Given the description of an element on the screen output the (x, y) to click on. 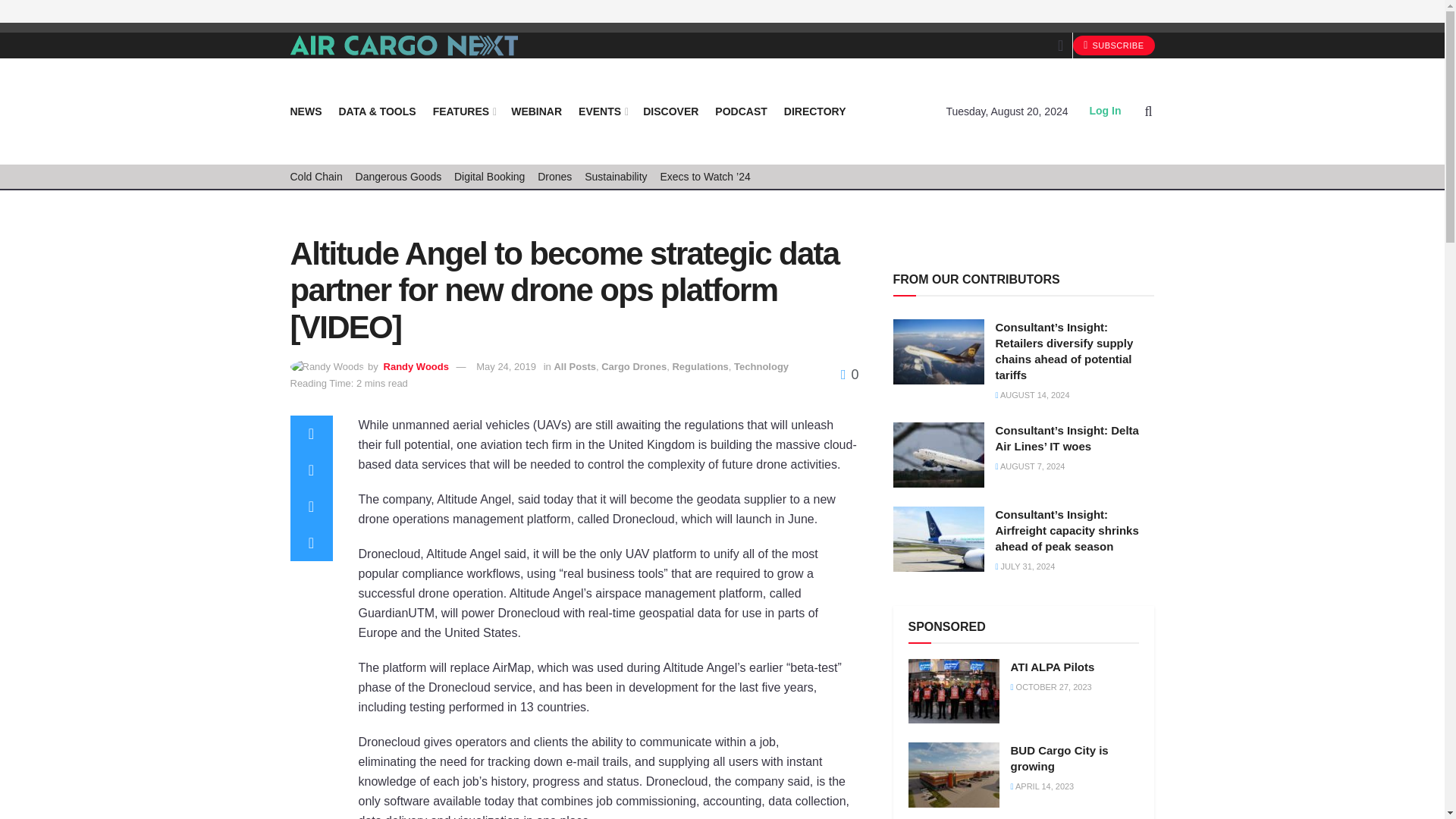
Log In (1105, 110)
WEBINAR (536, 111)
DISCOVER (670, 111)
Drones (554, 176)
Dangerous Goods (398, 176)
SUBSCRIBE (1113, 45)
Log In (1105, 110)
DIRECTORY (814, 111)
NEWS (305, 111)
Digital Booking (489, 176)
